Given the description of an element on the screen output the (x, y) to click on. 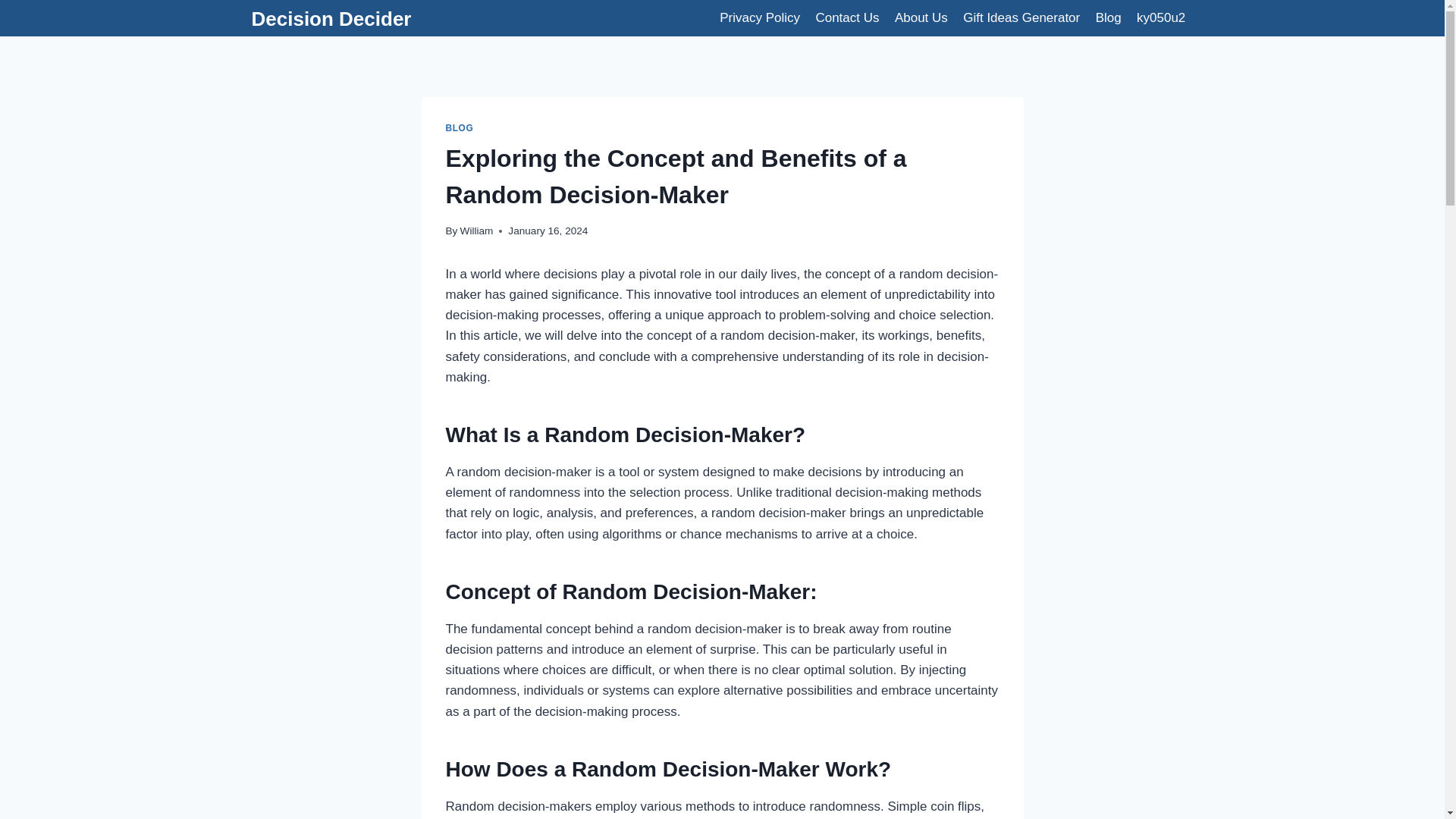
Blog (1107, 18)
Gift Ideas Generator (1021, 18)
ky050u2 (1161, 18)
Privacy Policy (759, 18)
William (476, 230)
Contact Us (847, 18)
Decision Decider (331, 19)
About Us (920, 18)
BLOG (459, 127)
